Given the description of an element on the screen output the (x, y) to click on. 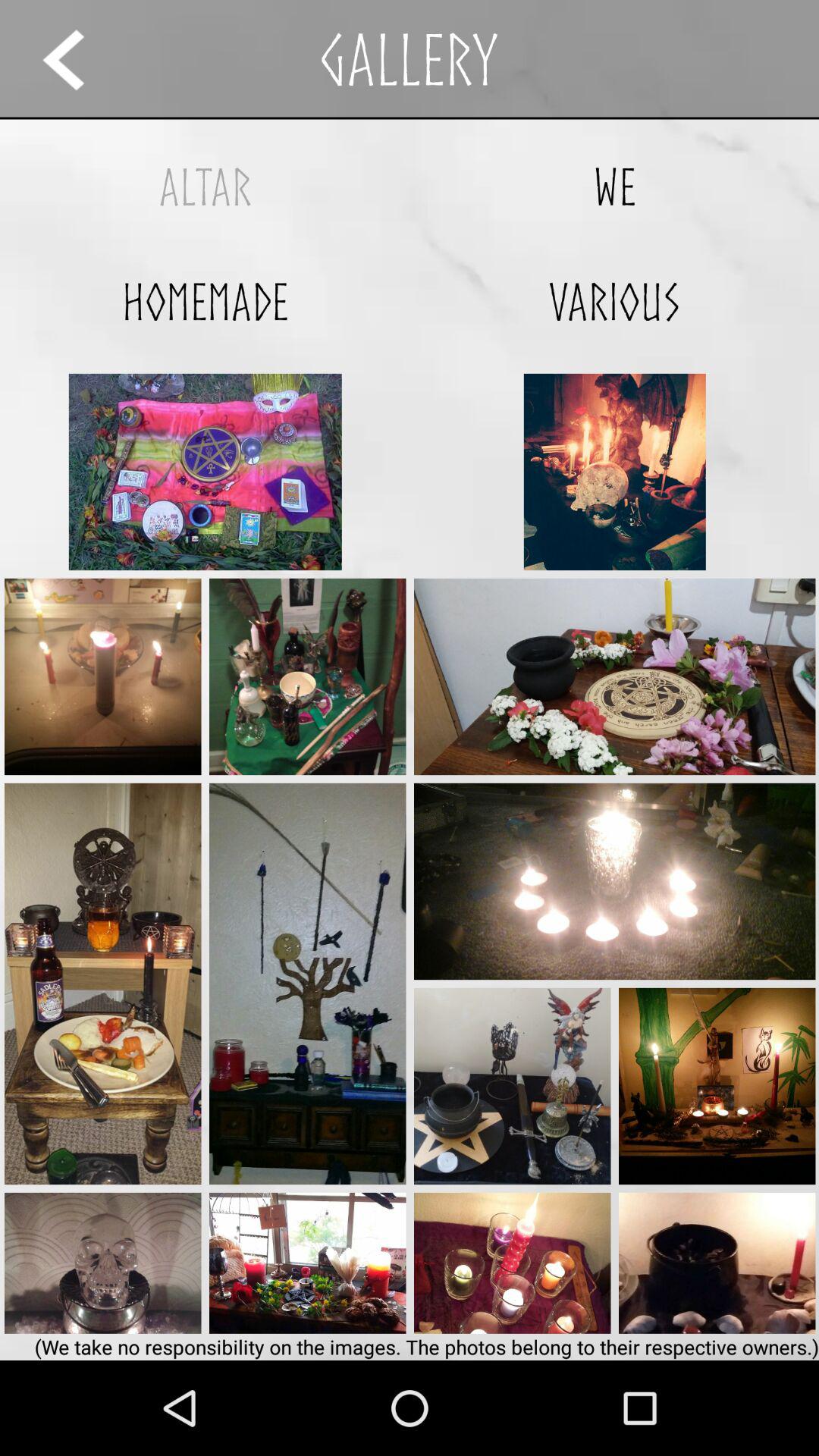
swipe to altar (204, 186)
